Given the description of an element on the screen output the (x, y) to click on. 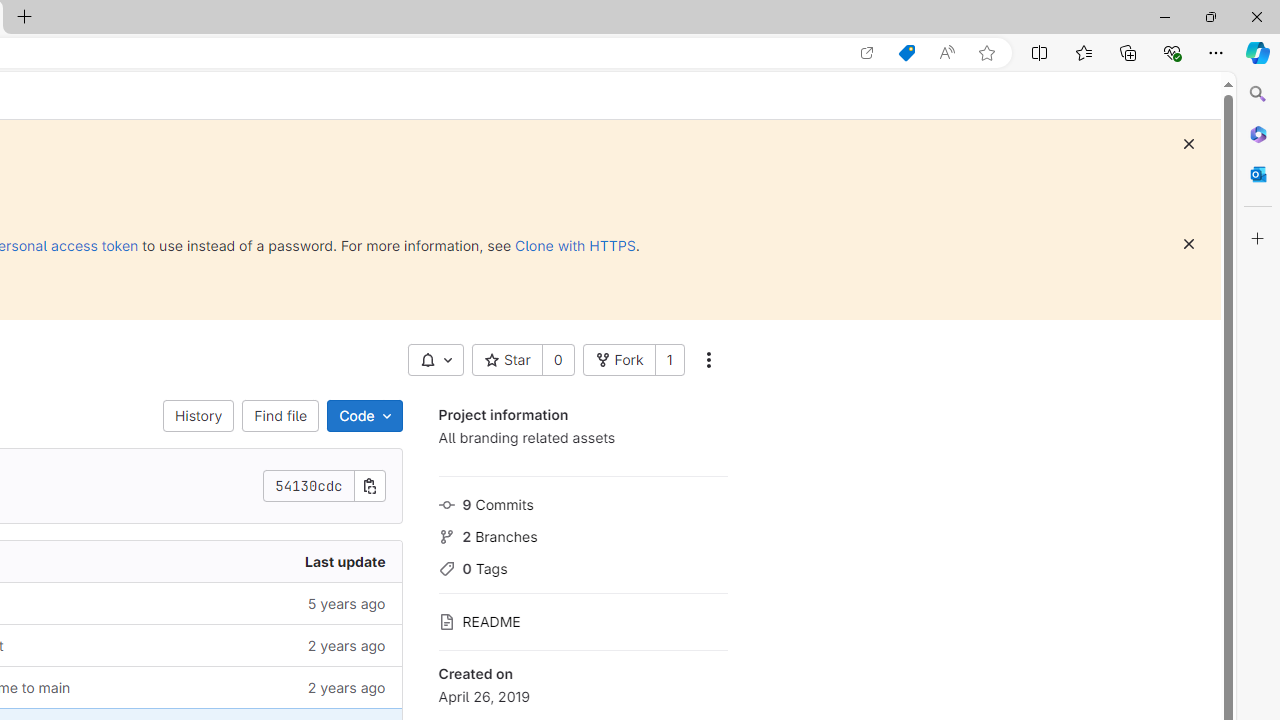
More actions (708, 359)
History (198, 416)
Open in app (867, 53)
2 years ago (247, 687)
0 Tags (582, 566)
 Star (506, 359)
5 years ago (247, 602)
9 Commits (582, 502)
